Given the description of an element on the screen output the (x, y) to click on. 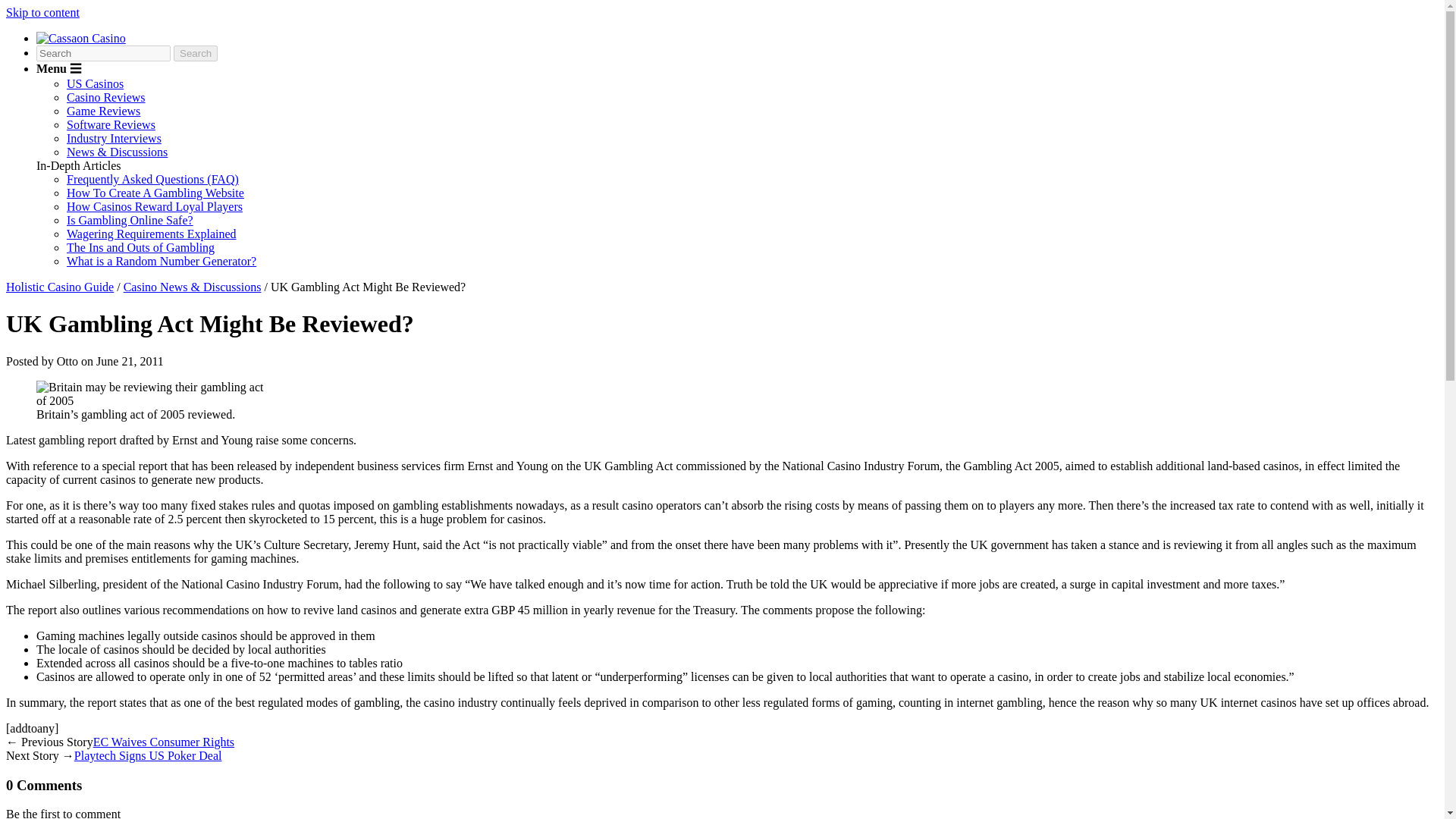
Software Reviews (110, 124)
Search efter: (103, 53)
US Casinos (94, 83)
EC Waives Consumer Rights (163, 741)
Search (194, 53)
How Casinos Reward Loyal Players (154, 205)
Search (194, 53)
Industry Interviews (113, 137)
Playtech Signs US Poker Deal (148, 755)
Wagering Requirements Explained (150, 233)
great britain (149, 393)
Skip to content (42, 11)
What is a Random Number Generator? (161, 260)
Search (194, 53)
Holistic Casino Guide (59, 286)
